Given the description of an element on the screen output the (x, y) to click on. 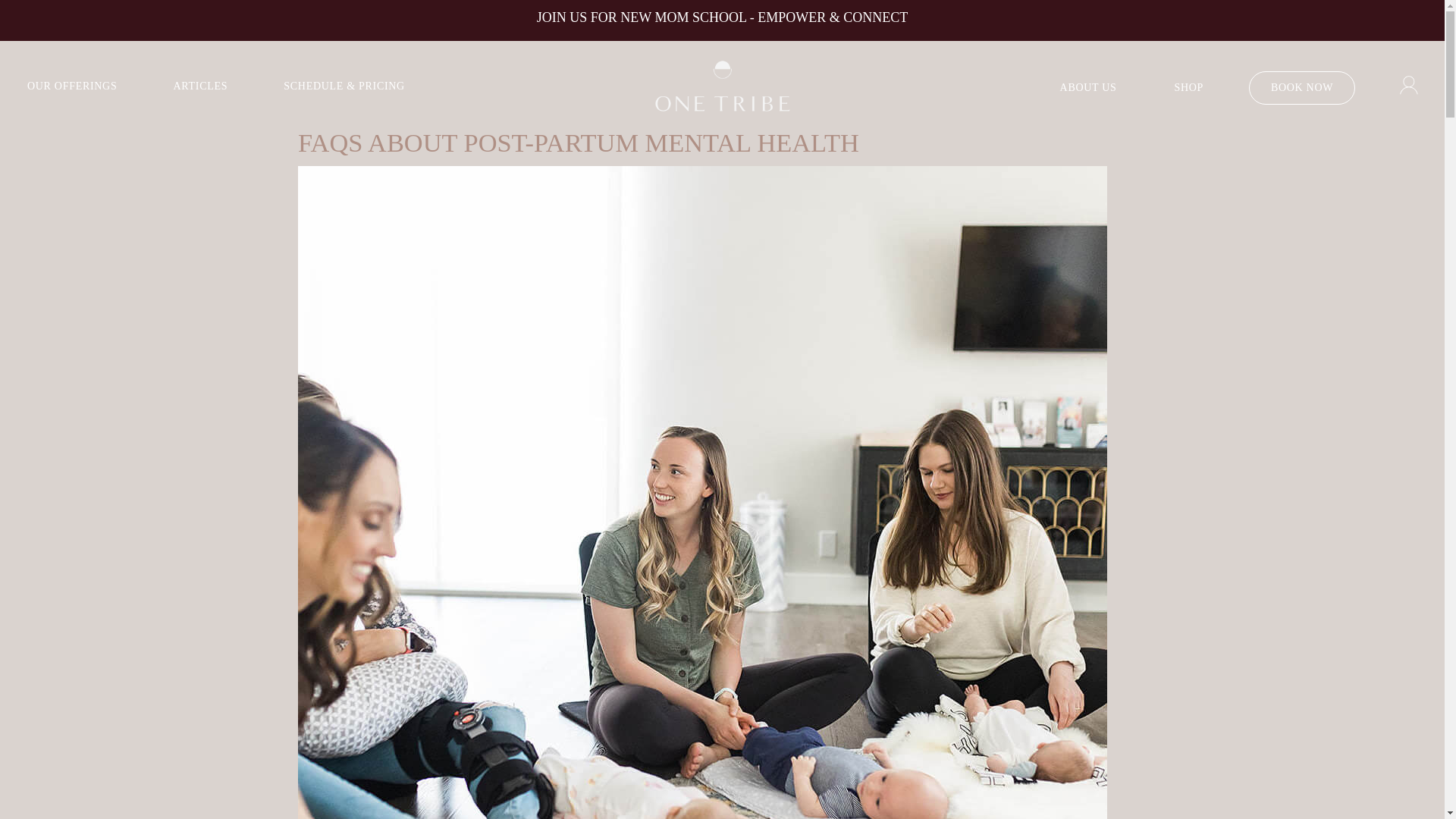
JOIN US FOR NEW MOM SCHOOL (641, 17)
OUR OFFERINGS (71, 86)
SHOP (1188, 87)
FAQS ABOUT POST-PARTUM MENTAL HEALTH (578, 142)
ARTICLES (200, 86)
BOOK NOW (1302, 87)
Home (721, 87)
ABOUT US (1088, 87)
account (1408, 90)
PREVIOUS (7, 28)
